Given the description of an element on the screen output the (x, y) to click on. 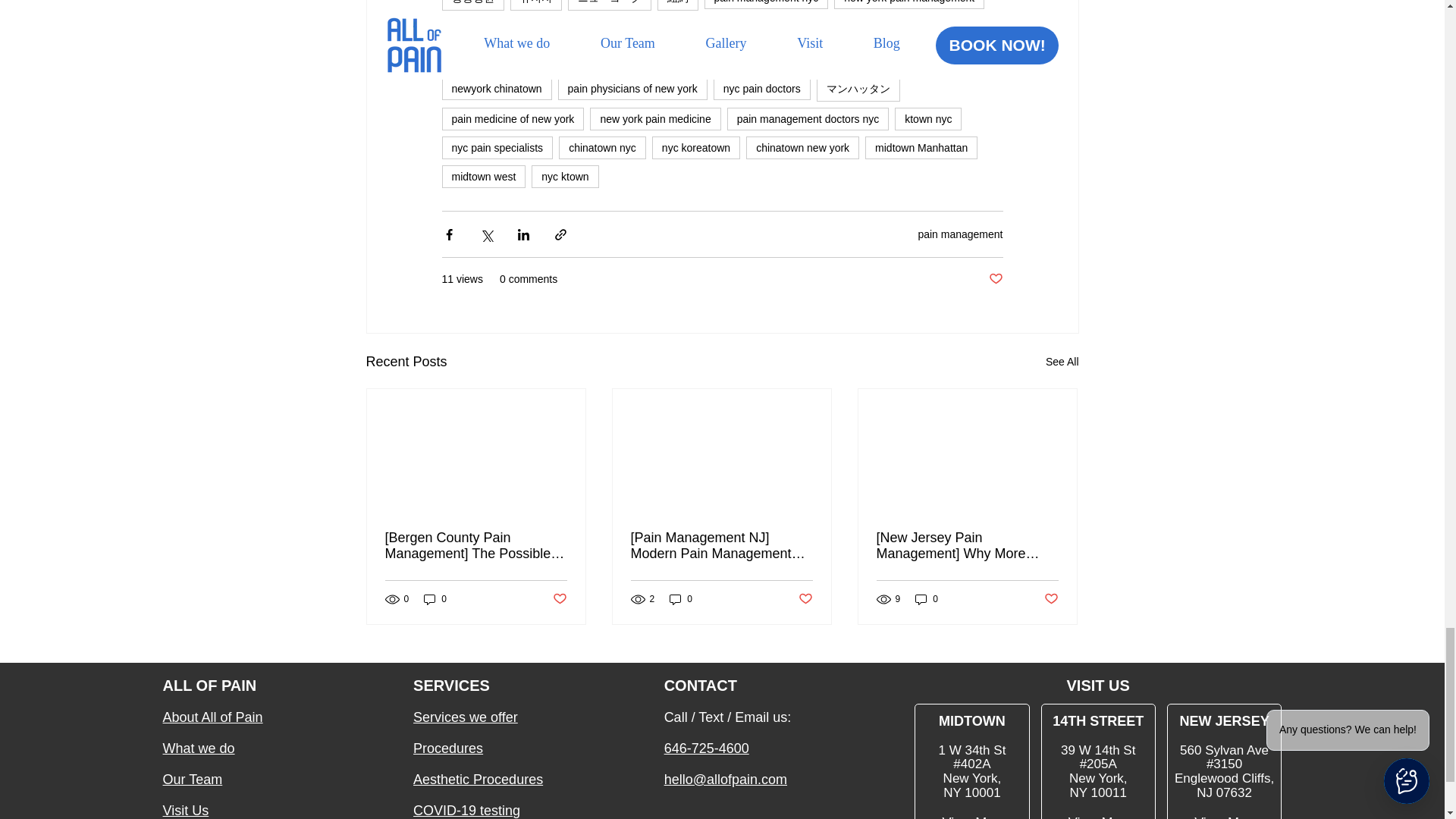
pain management nyc (765, 4)
nyc pain doctors (761, 87)
manhattan pain management (519, 27)
nyc pain management (503, 57)
chinatown nyc (602, 147)
new york pain medicine (654, 118)
pain medicine nyc (657, 27)
koreatown nyc (905, 57)
pain management manhattan (718, 57)
pain medicine of new york (512, 118)
new york pain management (909, 4)
pain physicians of new york (632, 87)
ktown nyc (927, 118)
nyc koreatown (695, 147)
pain management doctors nyc (807, 118)
